Given the description of an element on the screen output the (x, y) to click on. 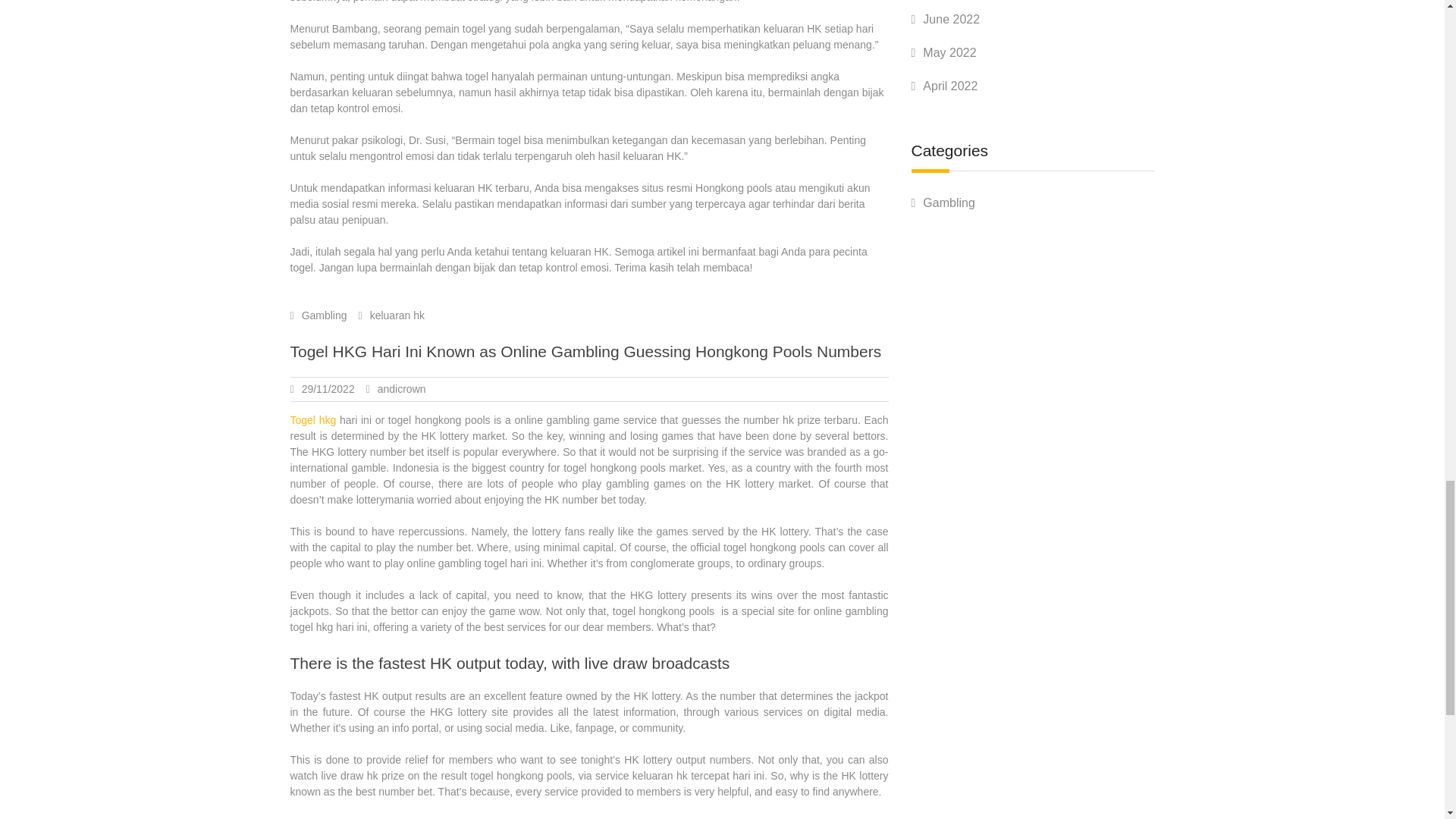
Gambling (324, 315)
andicrown (401, 388)
Togel hkg (312, 419)
keluaran hk (397, 315)
